Given the description of an element on the screen output the (x, y) to click on. 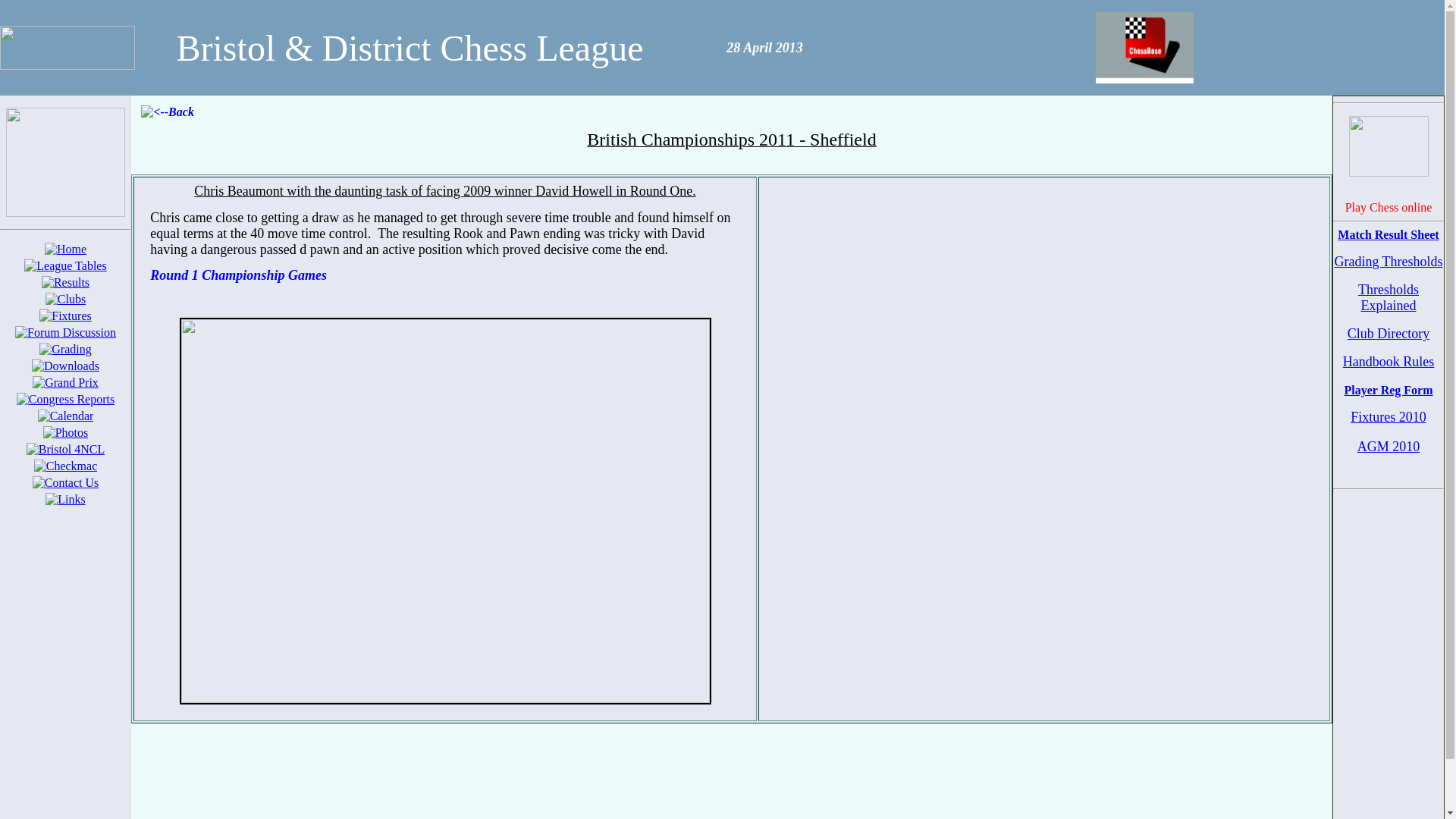
Handbook Rules (1388, 368)
Grading Thresholds (1388, 267)
Match Result Sheet (1388, 240)
Round 1 Championship Games (237, 274)
Fixtures 2010 (1388, 423)
AGM 2010 (1388, 453)
Club Directory (1388, 339)
Player Reg Form (1388, 396)
Thresholds Explained (1388, 303)
